Given the description of an element on the screen output the (x, y) to click on. 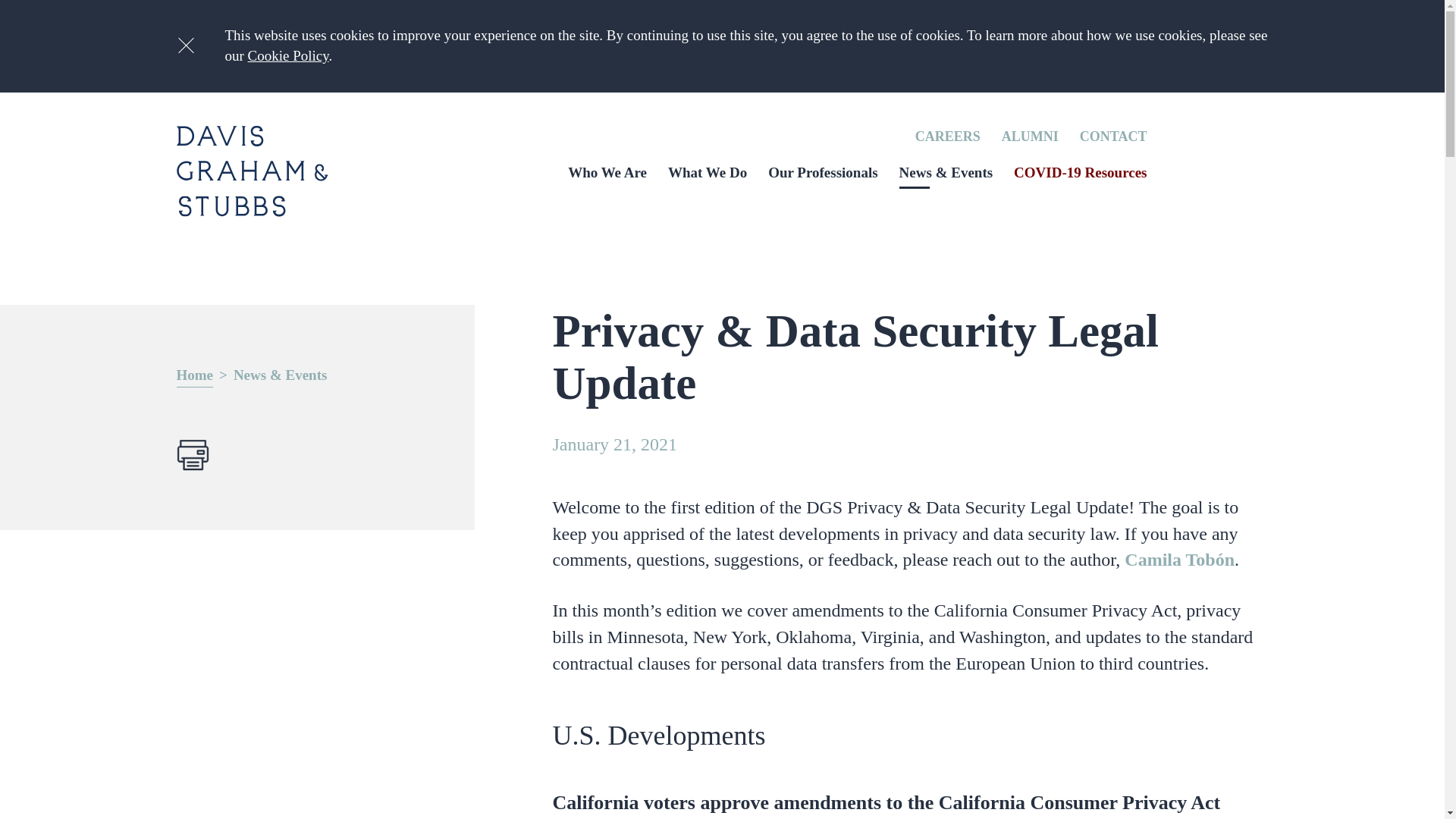
ALUMNI (1029, 136)
CONTACT (1113, 136)
Our Professionals (822, 172)
Cookie Policy (288, 55)
Who We Are (606, 172)
What We Do (707, 172)
CAREERS (947, 136)
Home (194, 376)
COVID-19 Resources (1080, 172)
